Given the description of an element on the screen output the (x, y) to click on. 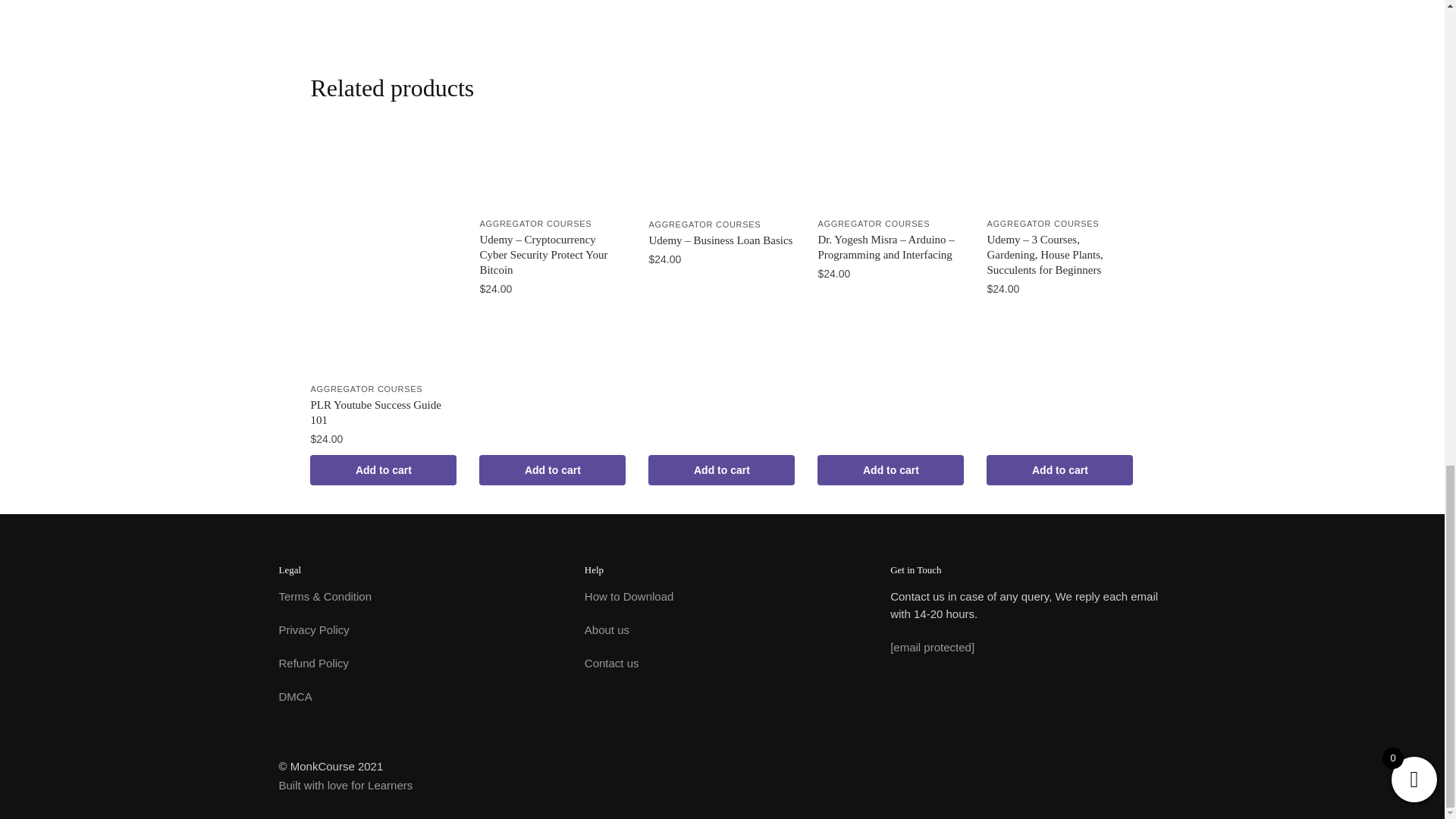
AGGREGATOR COURSES (535, 223)
AGGREGATOR COURSES (703, 224)
PLR Youtube Success Guide 101 (383, 412)
Add to cart (383, 470)
Add to cart (552, 470)
AGGREGATOR COURSES (366, 388)
